Given the description of an element on the screen output the (x, y) to click on. 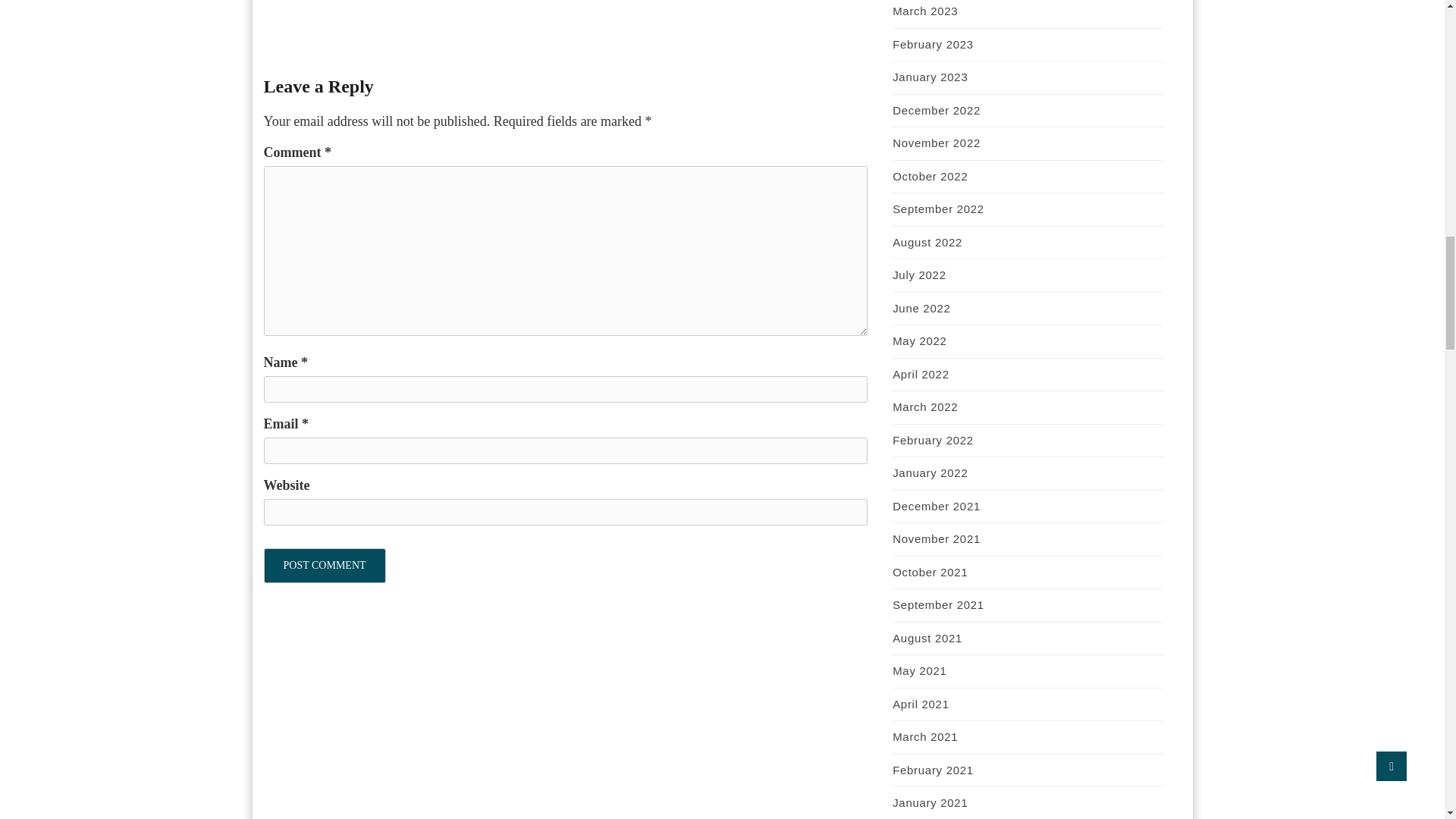
Post Comment (324, 565)
Post Comment (324, 565)
